Given the description of an element on the screen output the (x, y) to click on. 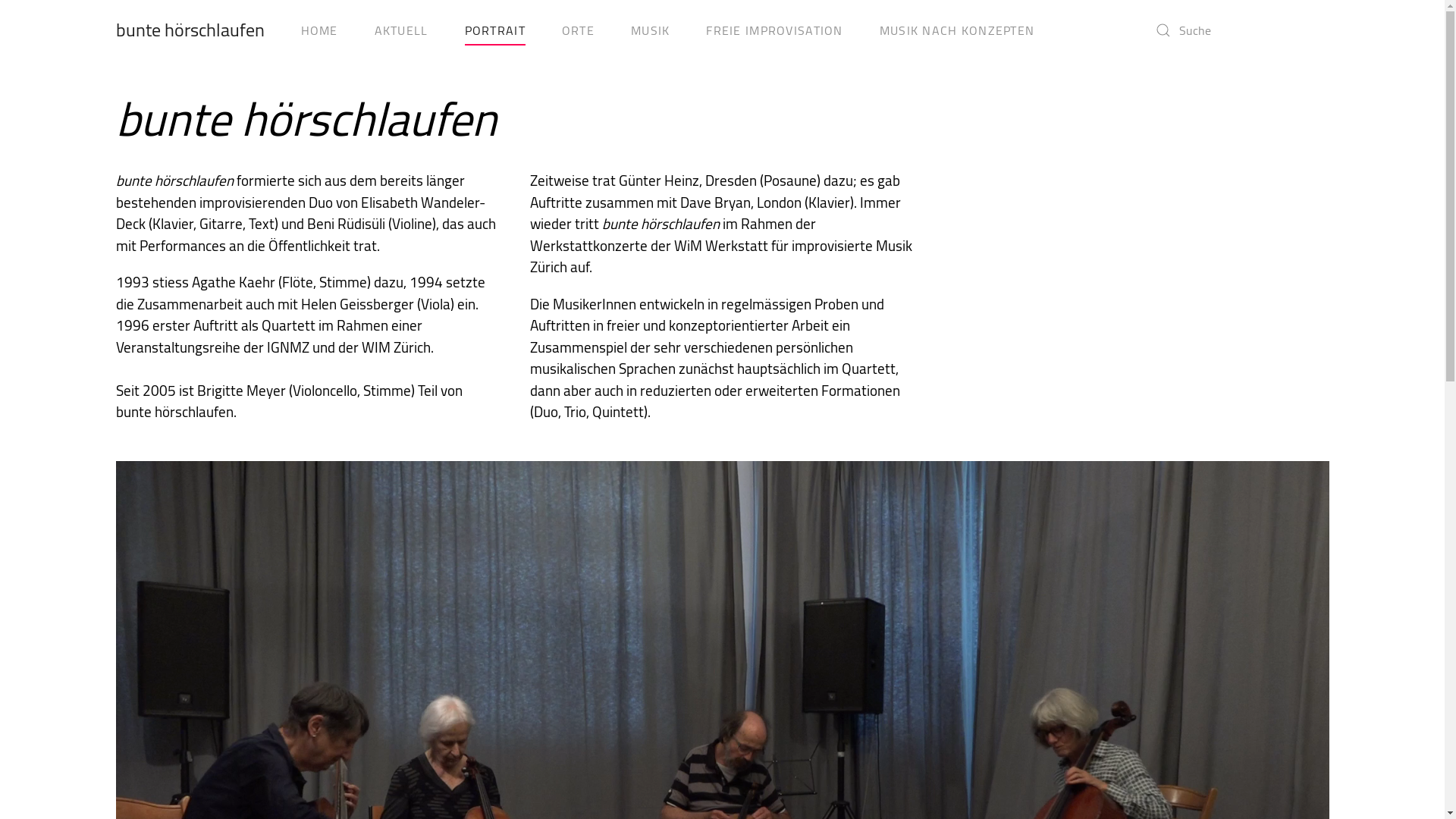
ORTE Element type: text (577, 30)
AKTUELL Element type: text (401, 30)
MUSIK Element type: text (649, 30)
FREIE IMPROVISATION Element type: text (773, 30)
HOME Element type: text (318, 30)
MUSIK NACH KONZEPTEN Element type: text (957, 30)
PORTRAIT Element type: text (494, 30)
